Given the description of an element on the screen output the (x, y) to click on. 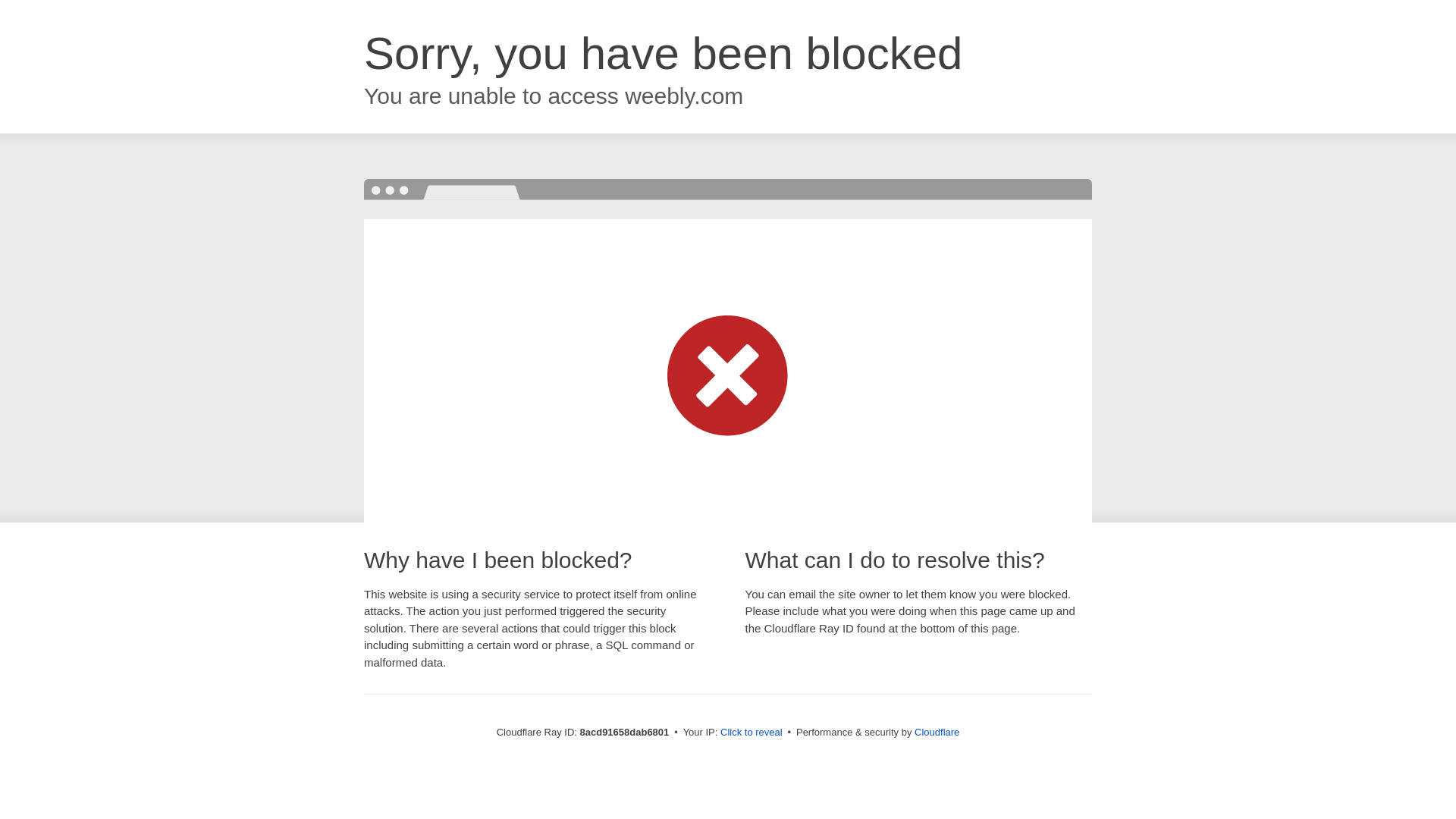
Click to reveal (751, 732)
Cloudflare (936, 731)
